Given the description of an element on the screen output the (x, y) to click on. 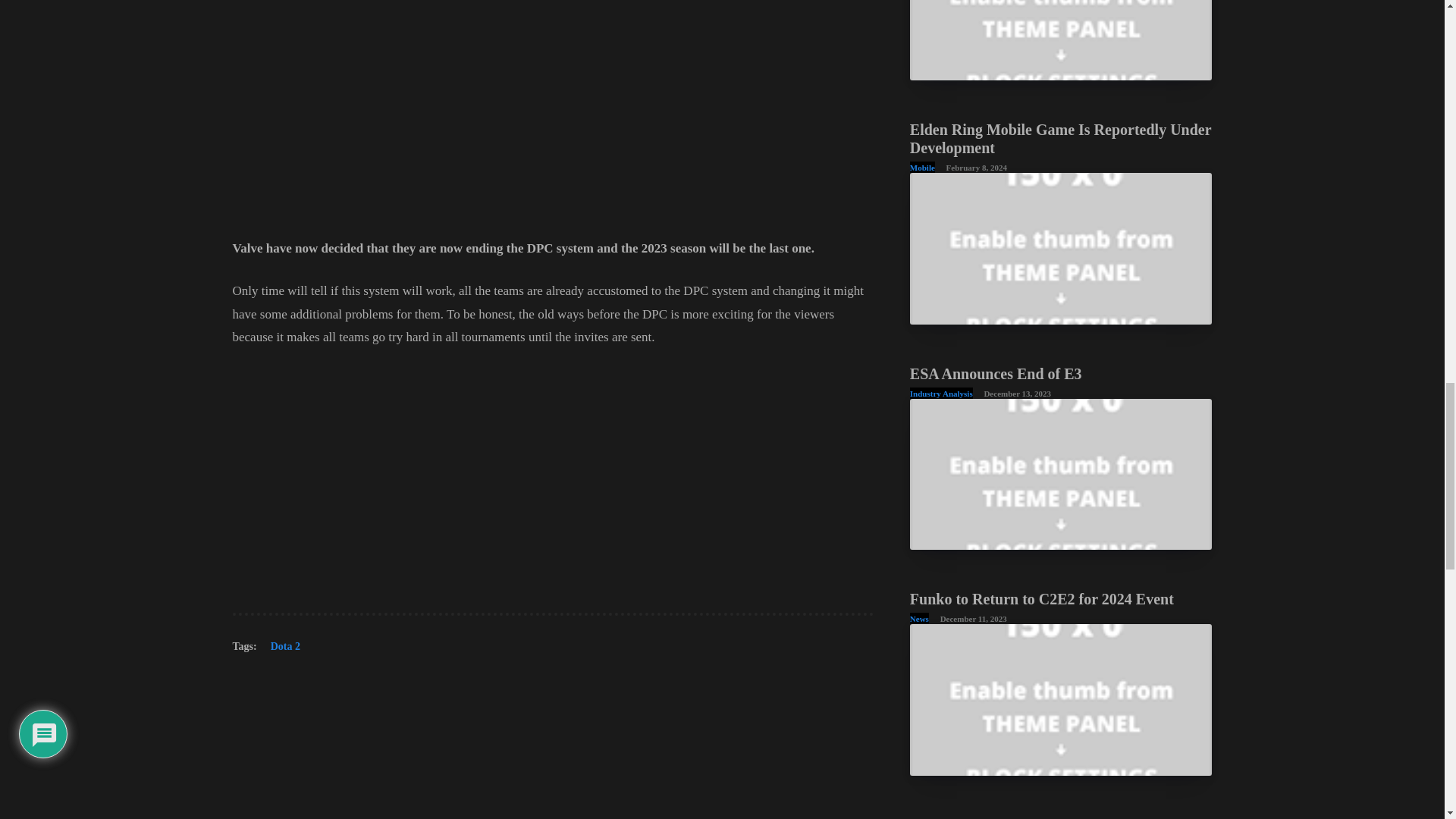
Funko to Return to C2E2 for 2024 Event (1061, 699)
Elden Ring Mobile Game Is Reportedly Under Development (1060, 138)
Funko to Return to C2E2 for 2024 Event (1041, 598)
Mobile (922, 166)
ESA Announces End of E3 (995, 373)
Dota 2 (285, 650)
Elden Ring Mobile Game Is Reportedly Under Development (1061, 247)
Silent Hill 2 Remake Was Rated by ESRB (1061, 40)
ESA Announces End of E3 (1061, 473)
Elden Ring Mobile Game Is Reportedly Under Development (1060, 138)
